Given the description of an element on the screen output the (x, y) to click on. 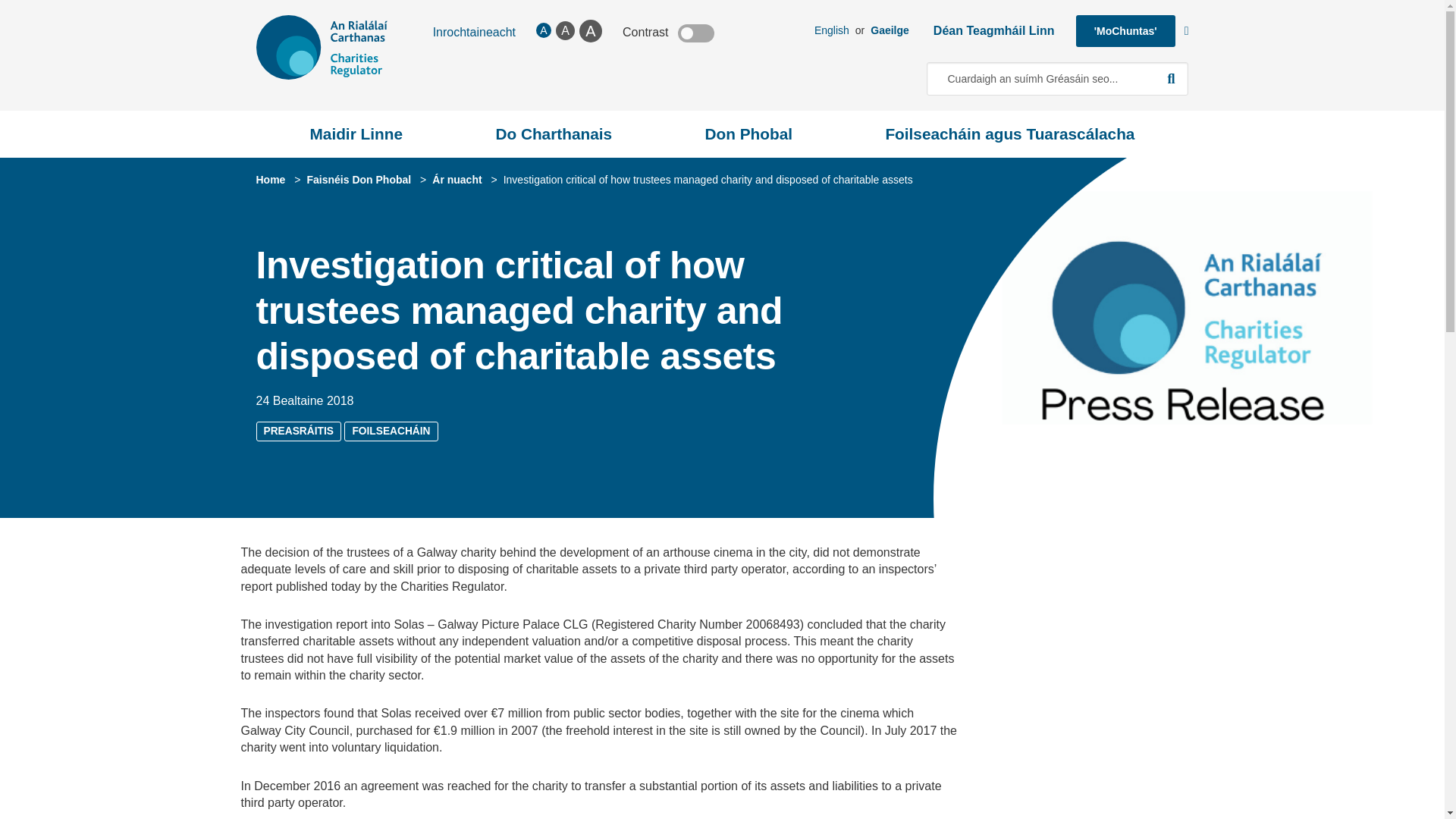
Maidir Linne (355, 134)
A (565, 30)
Don Phobal (748, 134)
A (543, 29)
English (830, 30)
Do Charthanais (553, 134)
Gaeilge (889, 30)
A (590, 30)
'MoChuntas' (1124, 30)
Inrochtaineacht (473, 31)
